Given the description of an element on the screen output the (x, y) to click on. 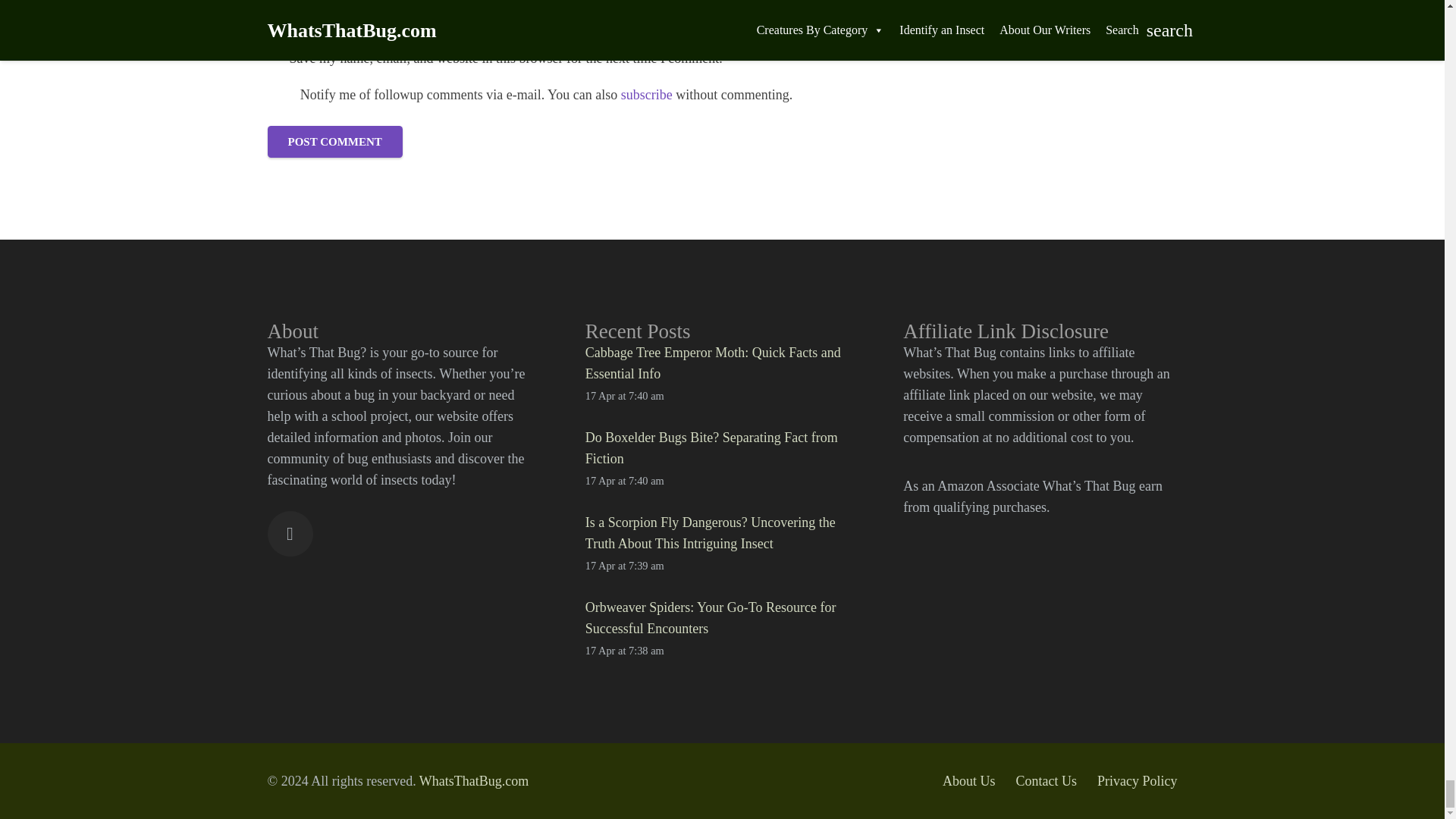
1 (274, 58)
yes (278, 94)
